Given the description of an element on the screen output the (x, y) to click on. 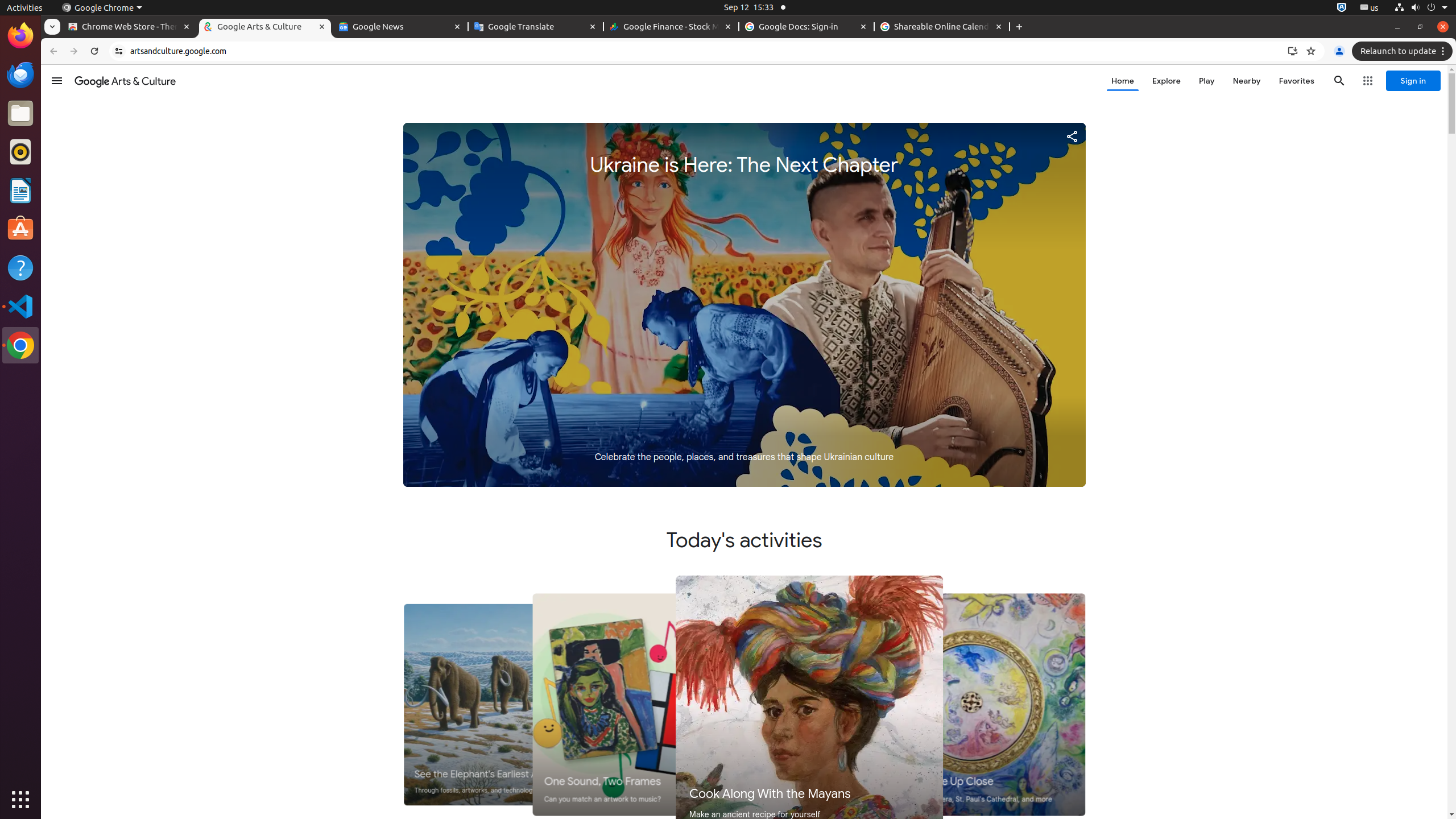
Ubuntu Software Element type: push-button (20, 229)
You Element type: push-button (1339, 50)
Google News - Memory usage - 62.7 MB Element type: page-tab (400, 26)
Visual Studio Code Element type: push-button (20, 306)
Menu Element type: push-button (56, 80)
